Given the description of an element on the screen output the (x, y) to click on. 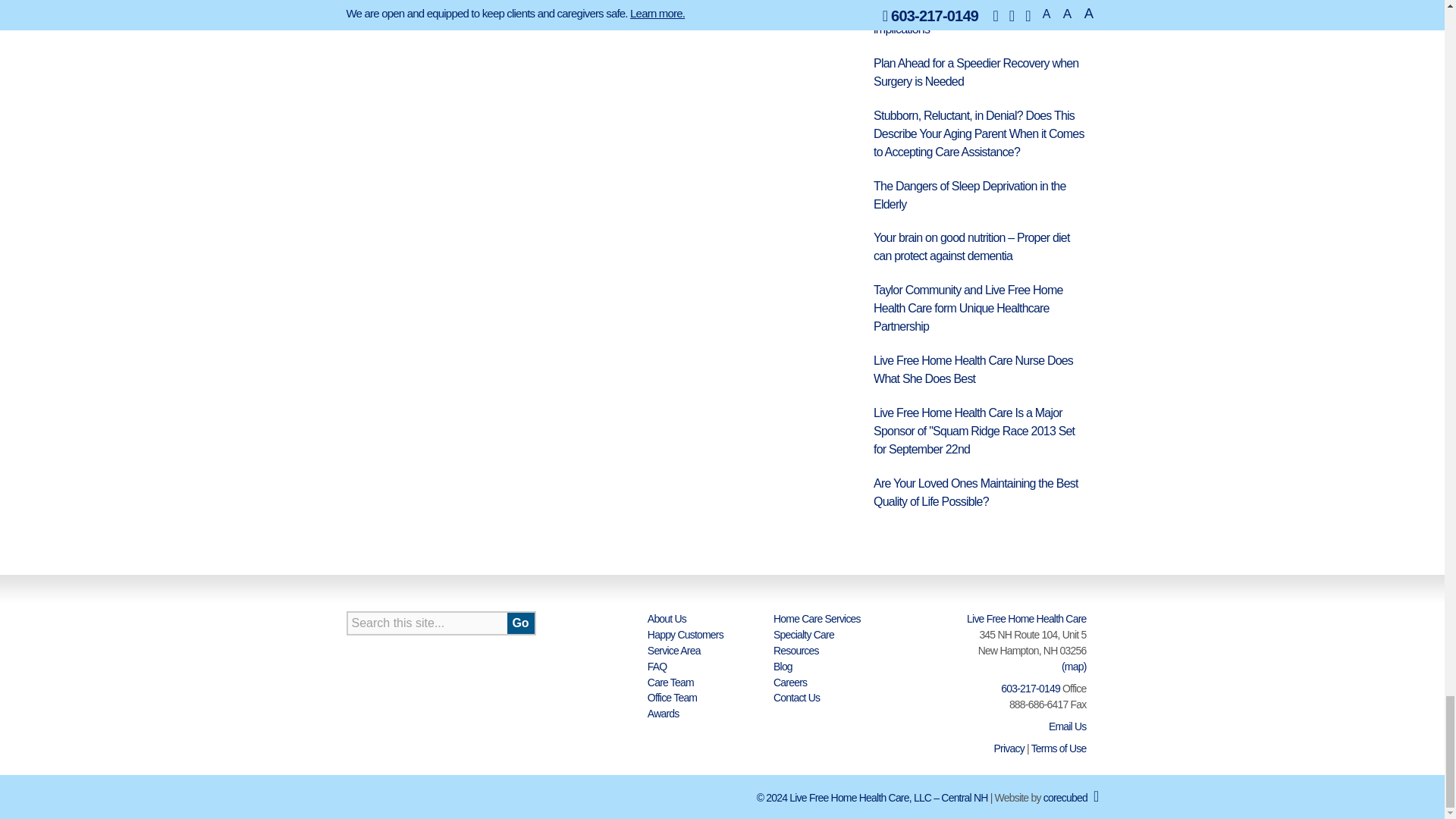
click to call us (1030, 688)
Go (520, 622)
click to find us (1073, 666)
